Given the description of an element on the screen output the (x, y) to click on. 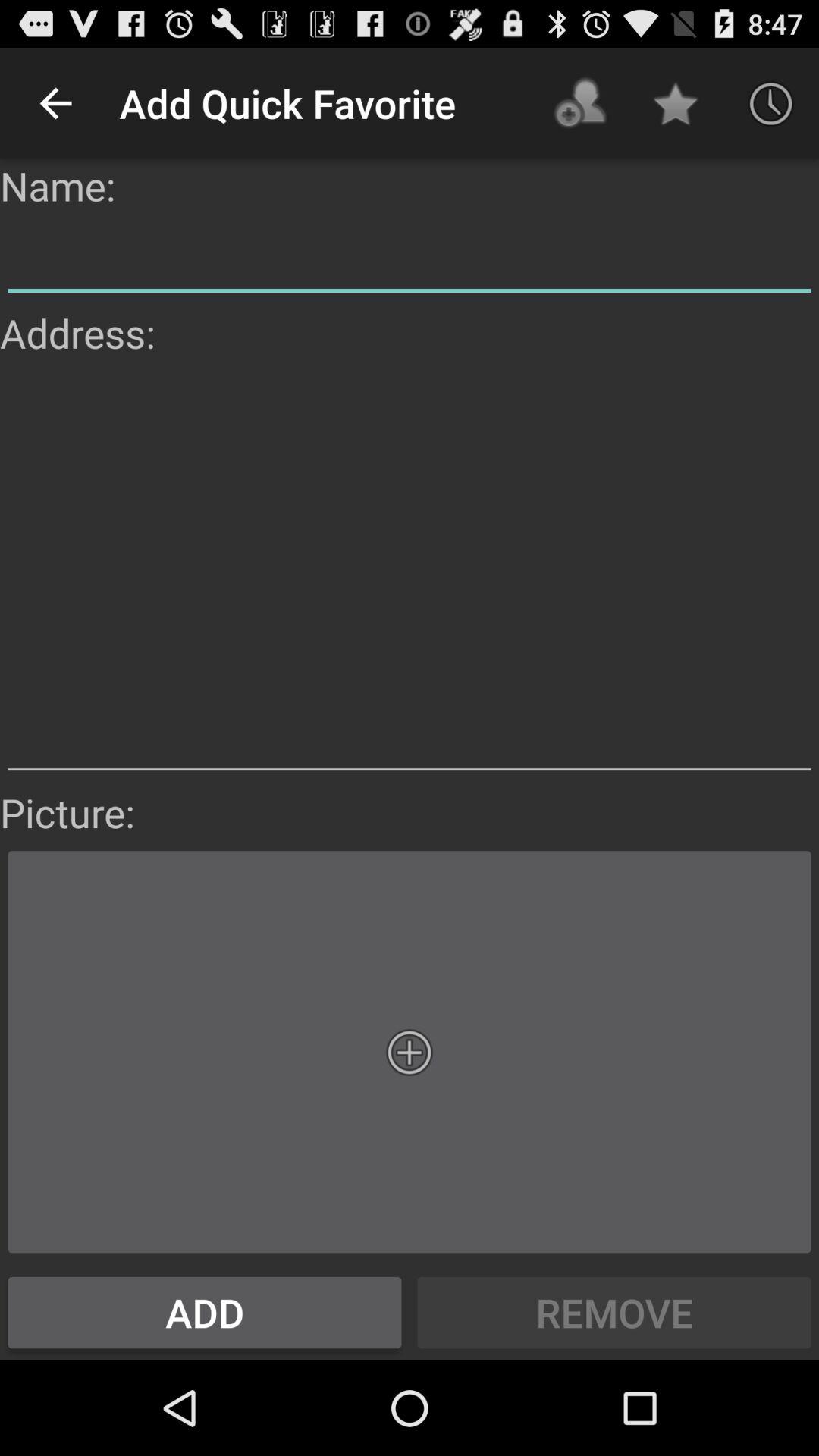
advertisement (409, 572)
